Given the description of an element on the screen output the (x, y) to click on. 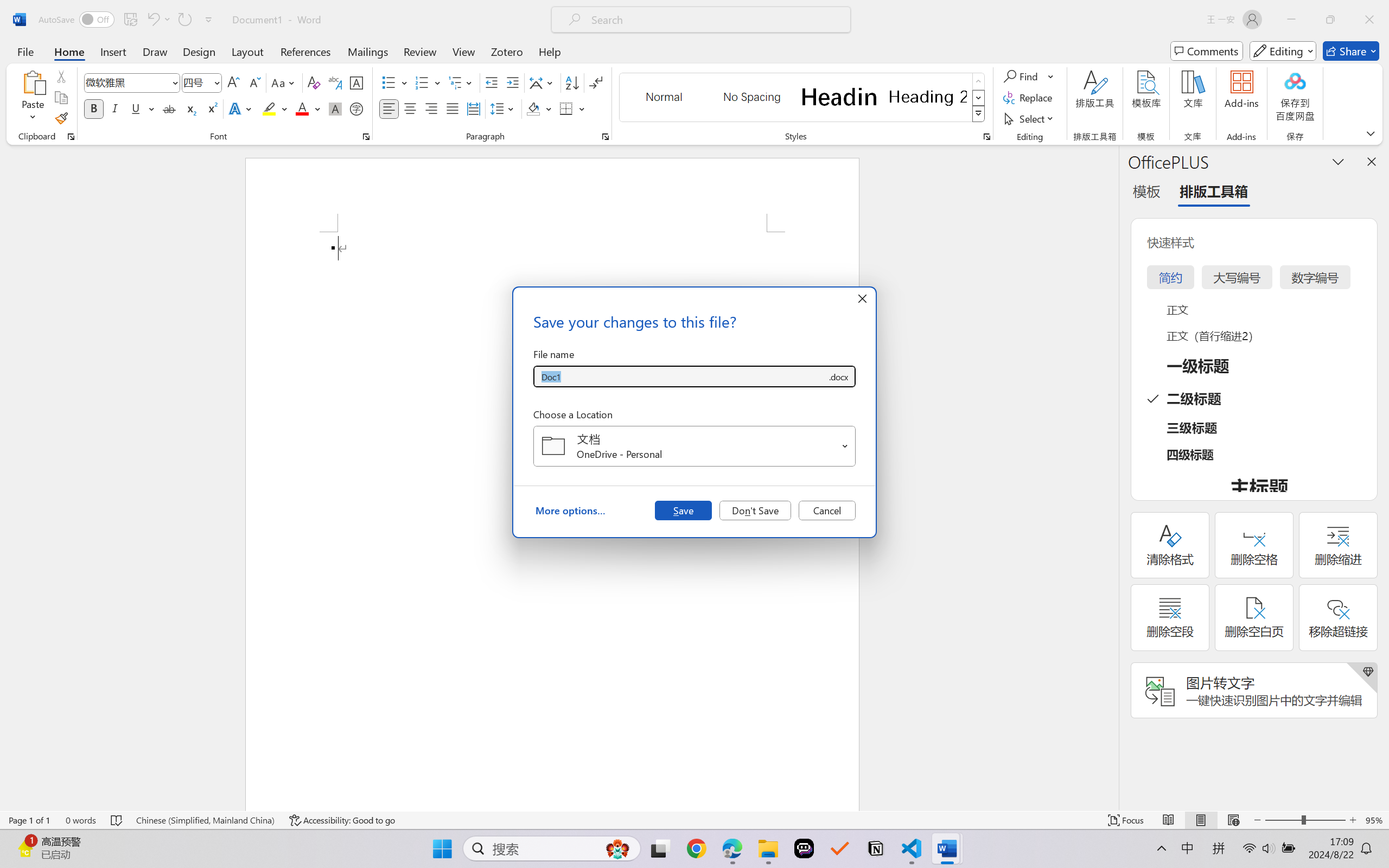
Google Chrome (696, 848)
Zoom 95% (1374, 819)
